Given the description of an element on the screen output the (x, y) to click on. 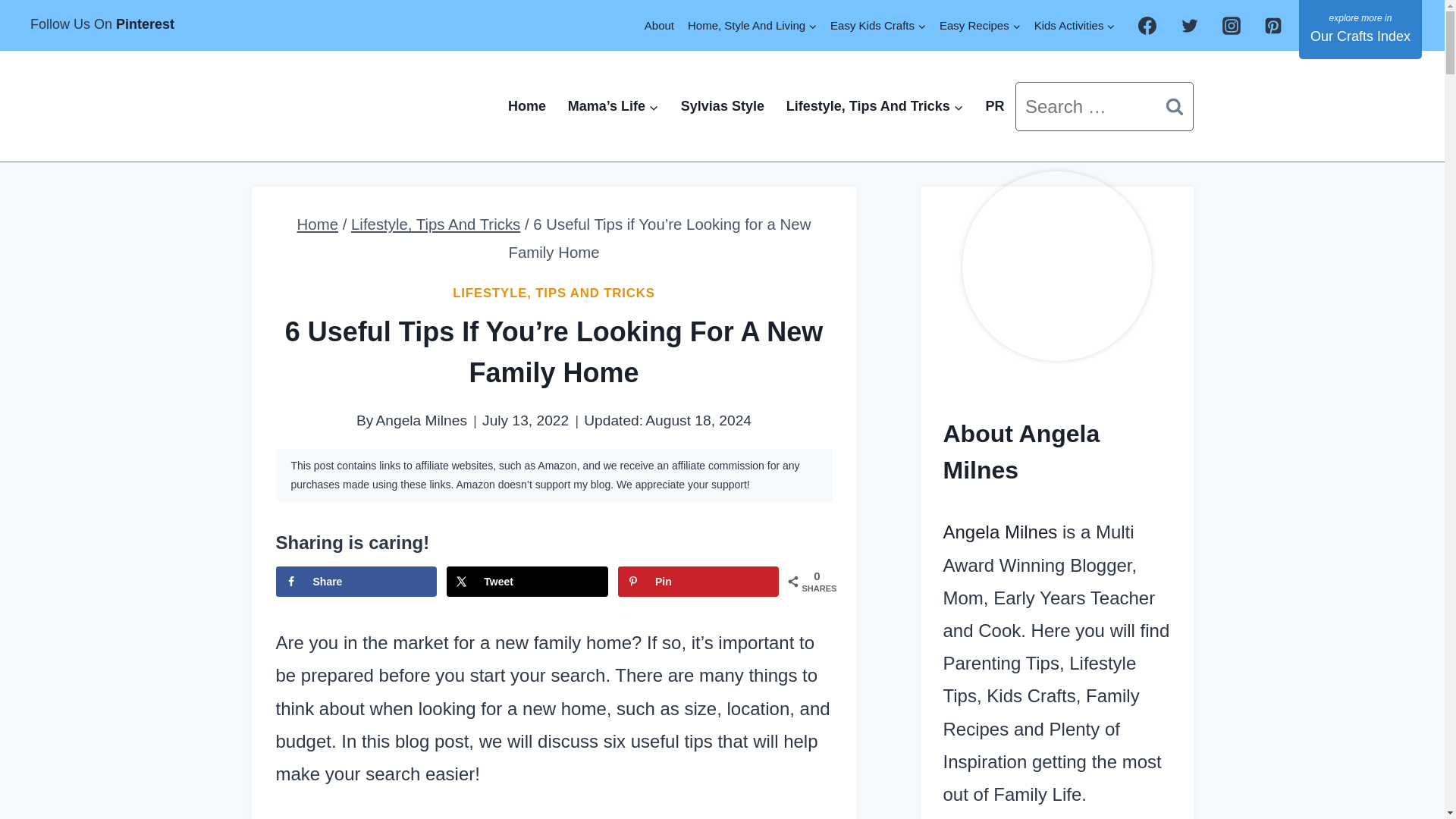
Easy Kids Crafts (878, 25)
Share on X (526, 581)
Share on Facebook (356, 581)
Kids Activities (1074, 25)
Save to Pinterest (697, 581)
Pinterest (145, 23)
Home, Style And Living (752, 25)
About (659, 25)
Easy Recipes (980, 25)
